Given the description of an element on the screen output the (x, y) to click on. 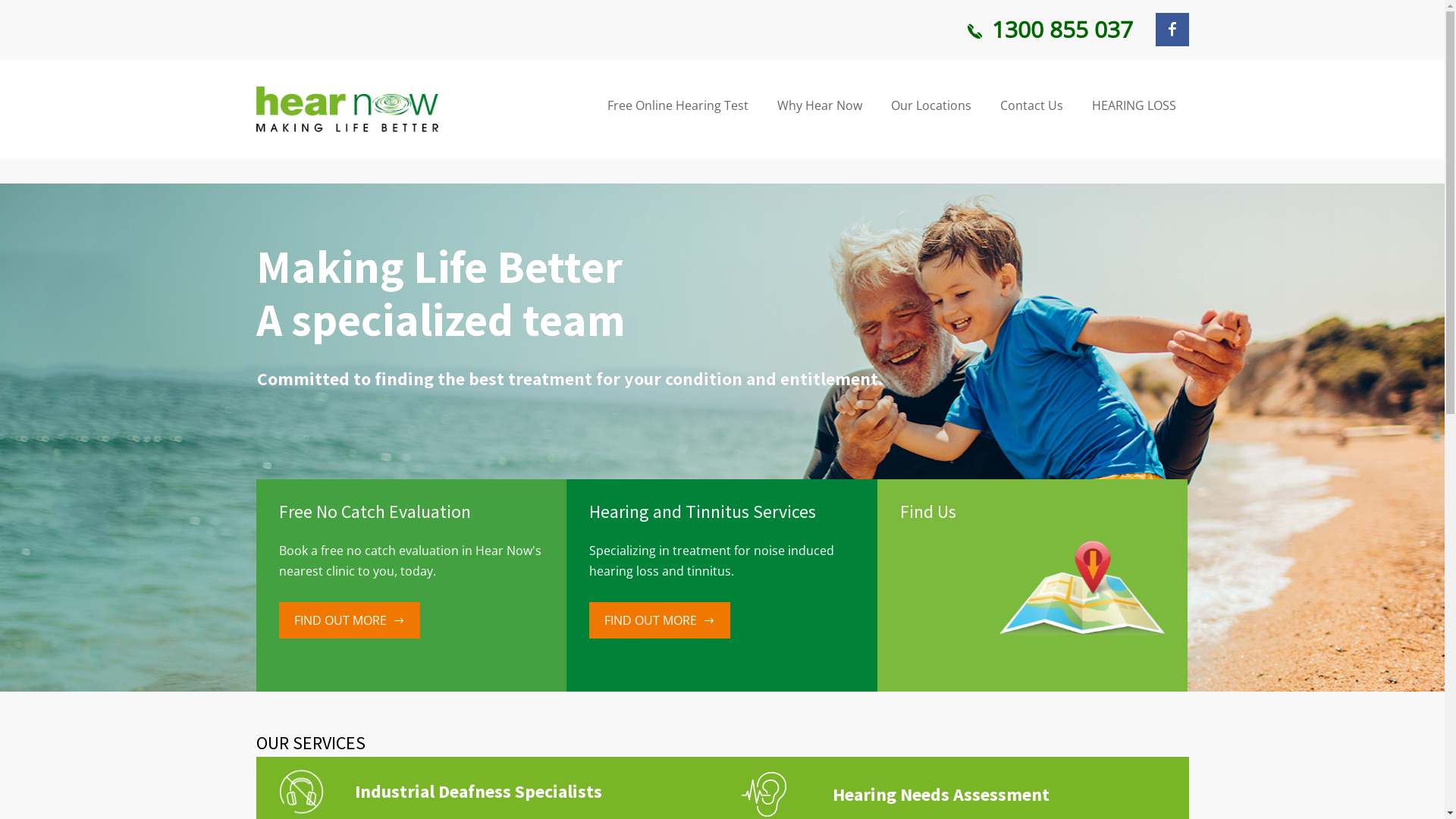
Our Locations Element type: text (930, 105)
Contact Us Element type: text (1031, 105)
FIND OUT MORE Element type: text (659, 620)
Free Online Hearing Test Element type: text (677, 105)
1300 855 037 Element type: text (1048, 29)
HEARING LOSS Element type: text (1134, 105)
FIND OUT MORE Element type: text (349, 620)
Why Hear Now Element type: text (819, 105)
